Given the description of an element on the screen output the (x, y) to click on. 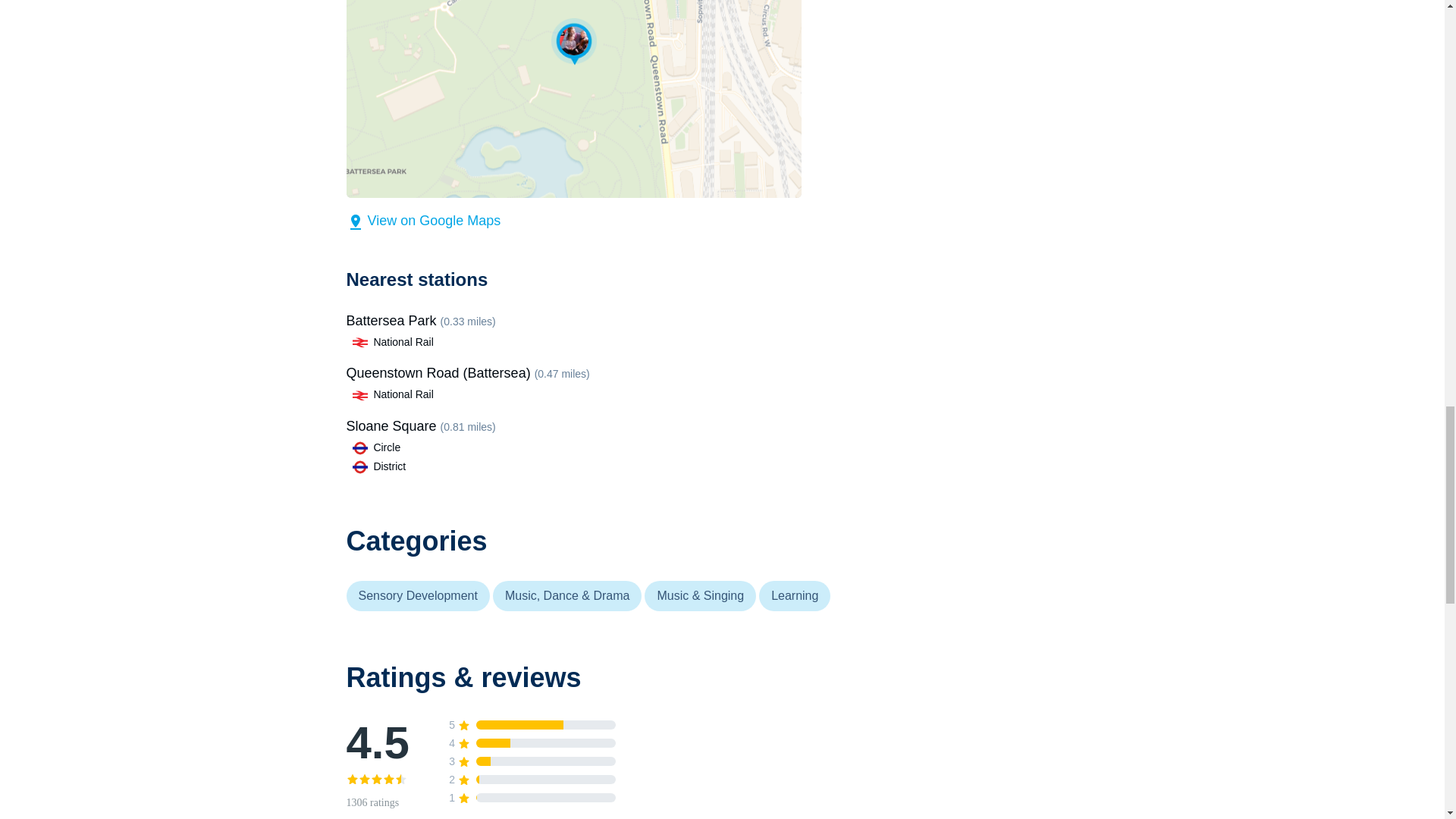
317 (530, 743)
Sensory Development (419, 595)
817 (530, 724)
View on Google Maps (423, 220)
Learning (795, 595)
29 (530, 779)
10 (530, 797)
133 (530, 761)
